Given the description of an element on the screen output the (x, y) to click on. 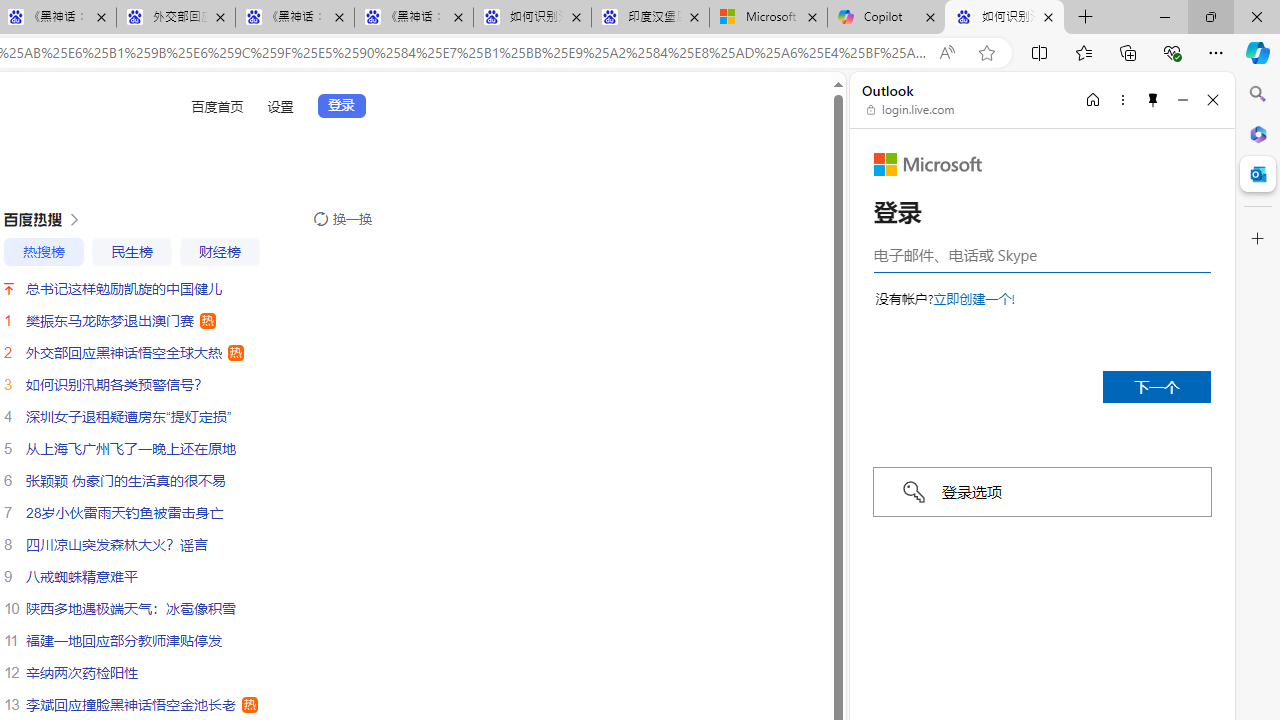
Copilot (886, 17)
